Given the description of an element on the screen output the (x, y) to click on. 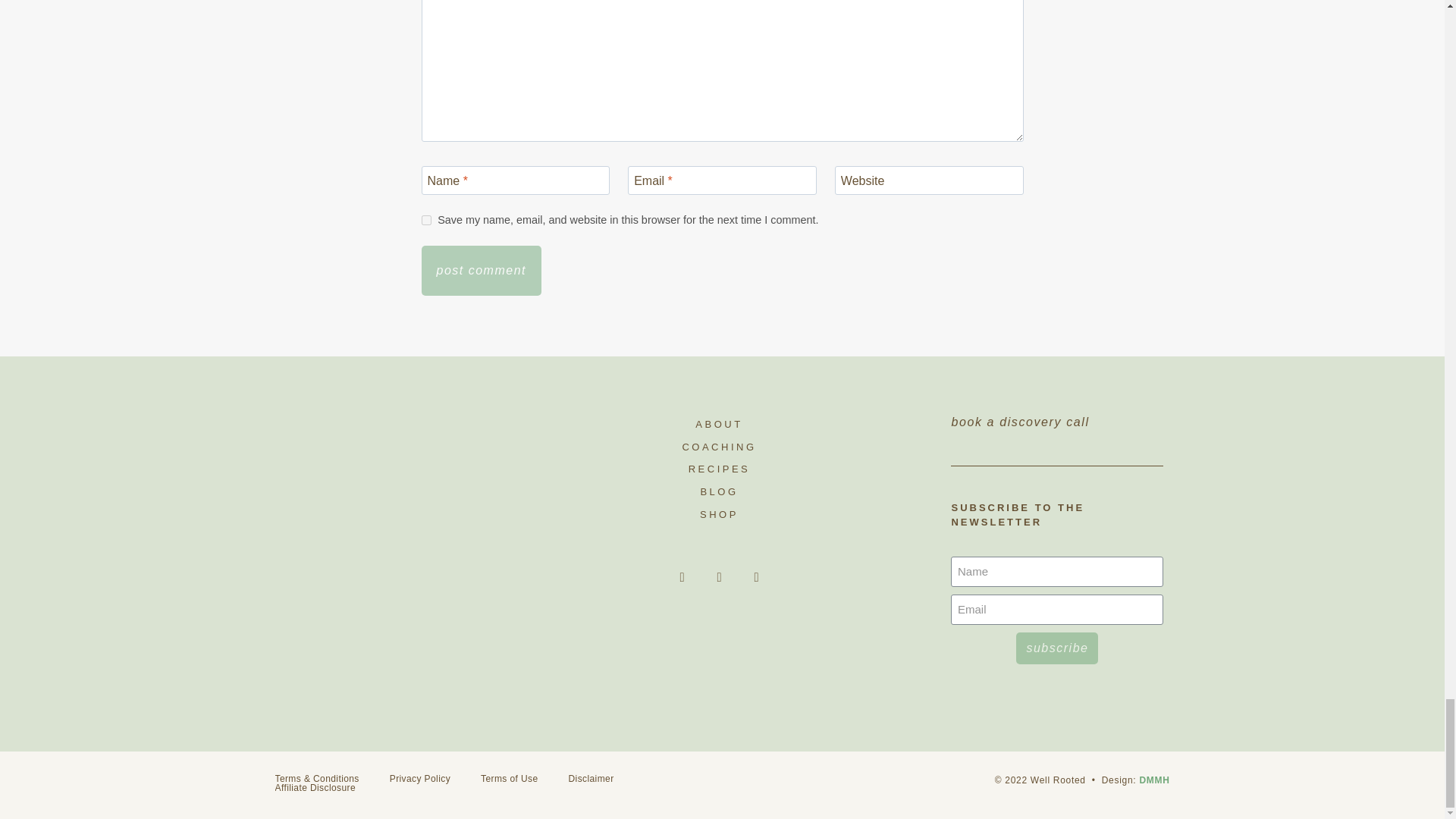
yes (426, 220)
Post Comment (481, 270)
